Given the description of an element on the screen output the (x, y) to click on. 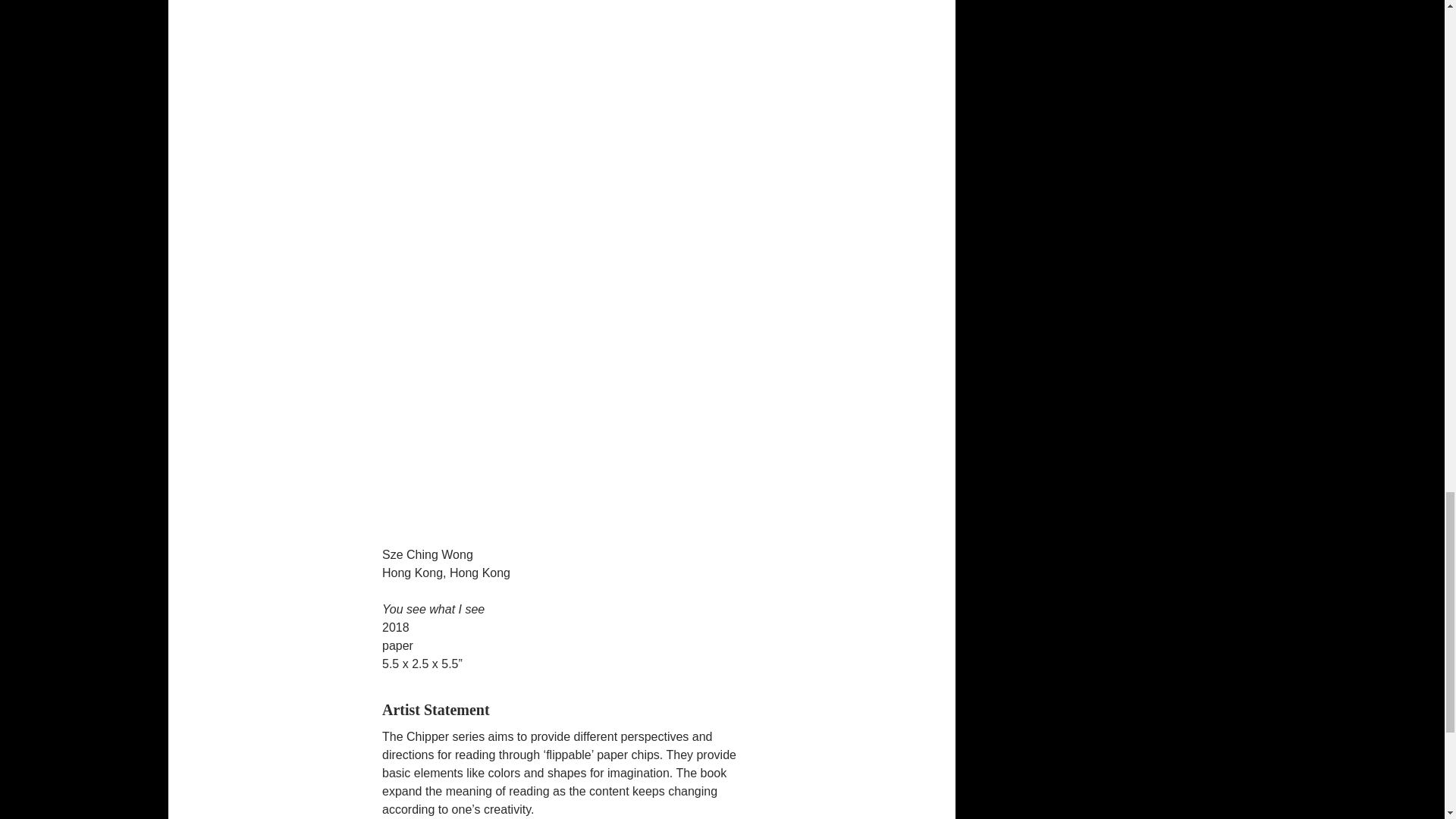
Page 1 (561, 709)
Page 1 (561, 773)
